Given the description of an element on the screen output the (x, y) to click on. 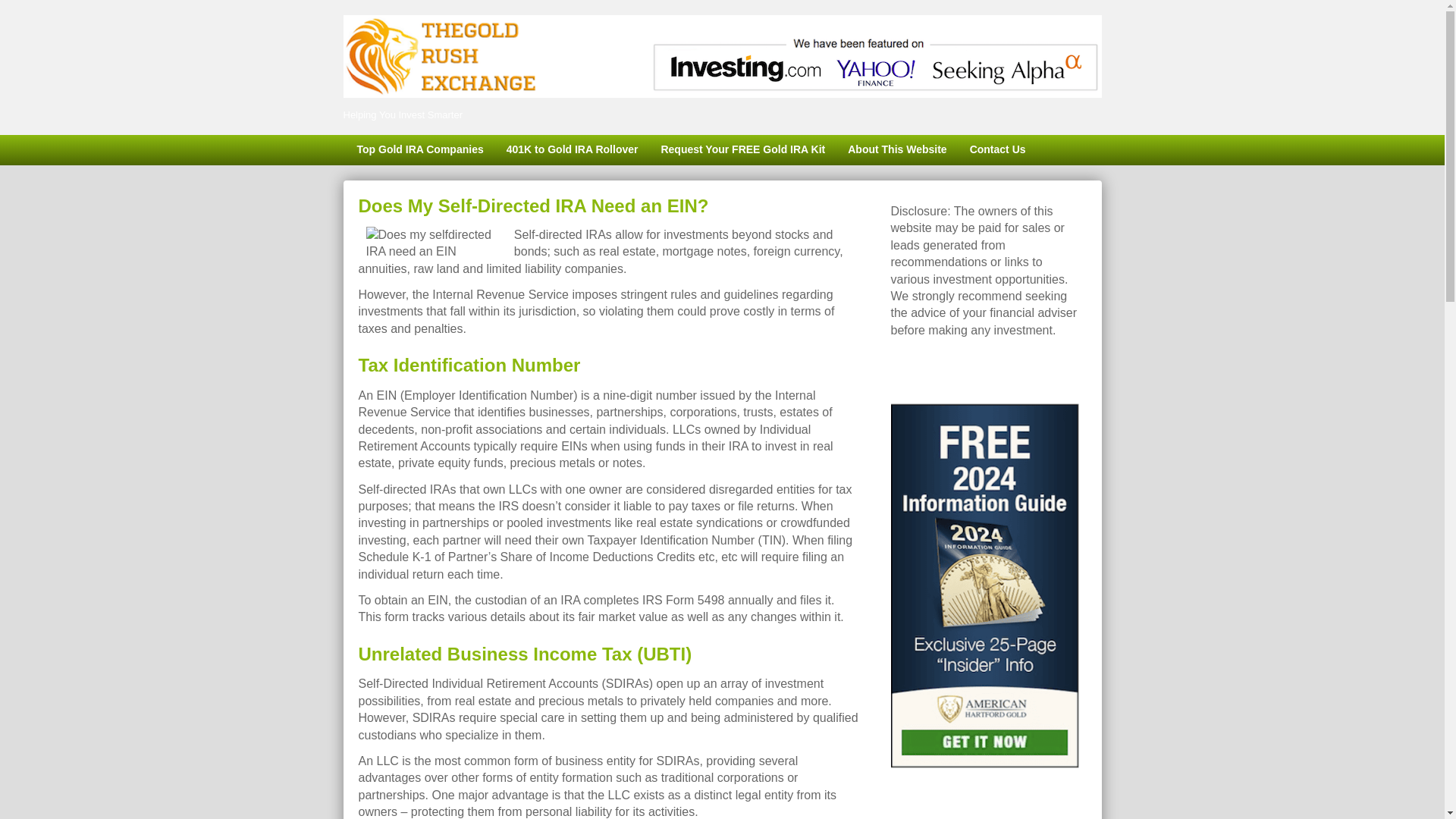
Contact Us (997, 150)
401K to Gold IRA Rollover (572, 150)
Top Gold IRA Companies (418, 150)
About This Website (896, 150)
Request Your FREE Gold IRA Kit (742, 150)
